Given the description of an element on the screen output the (x, y) to click on. 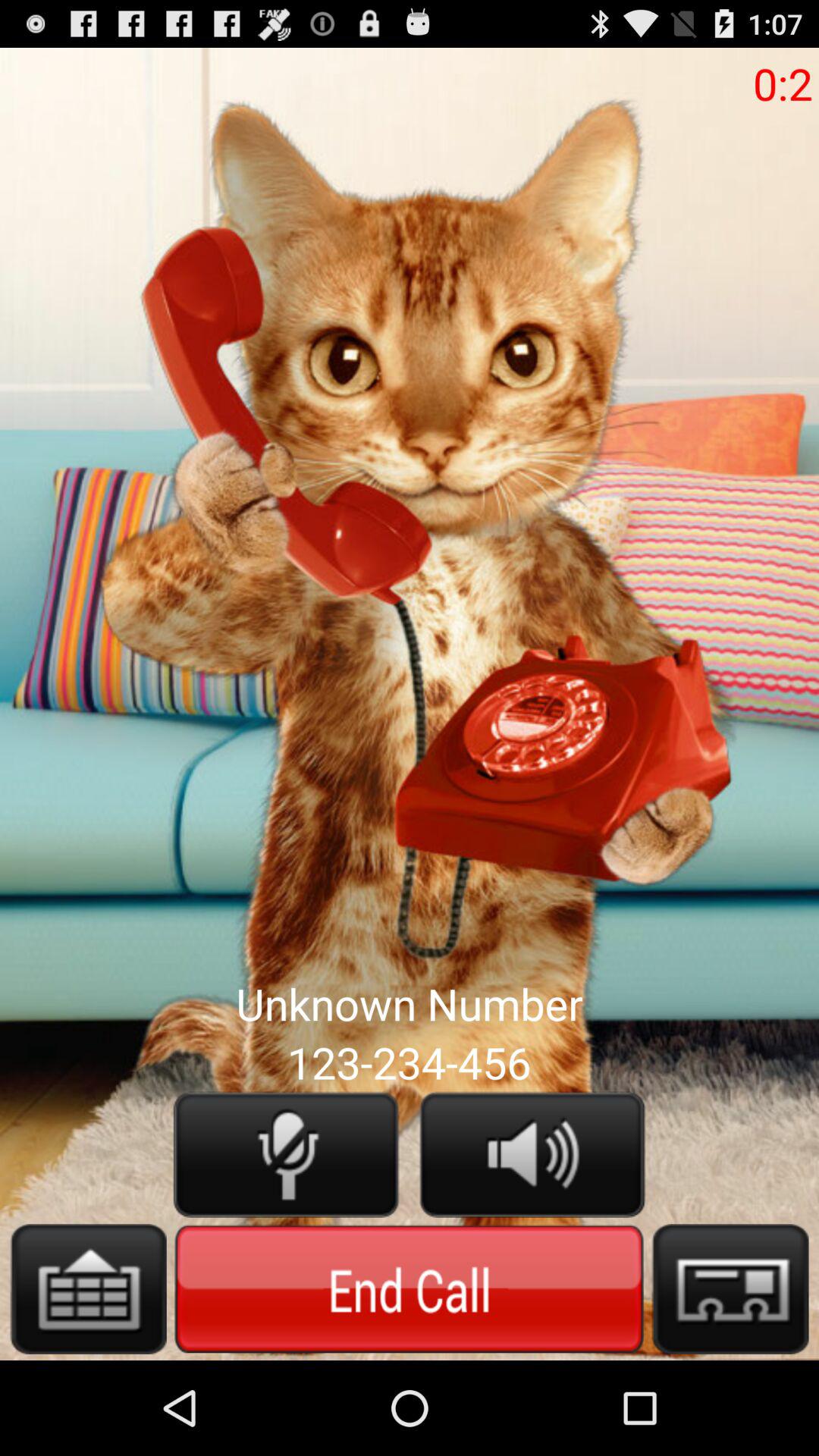
sound option (532, 1154)
